Given the description of an element on the screen output the (x, y) to click on. 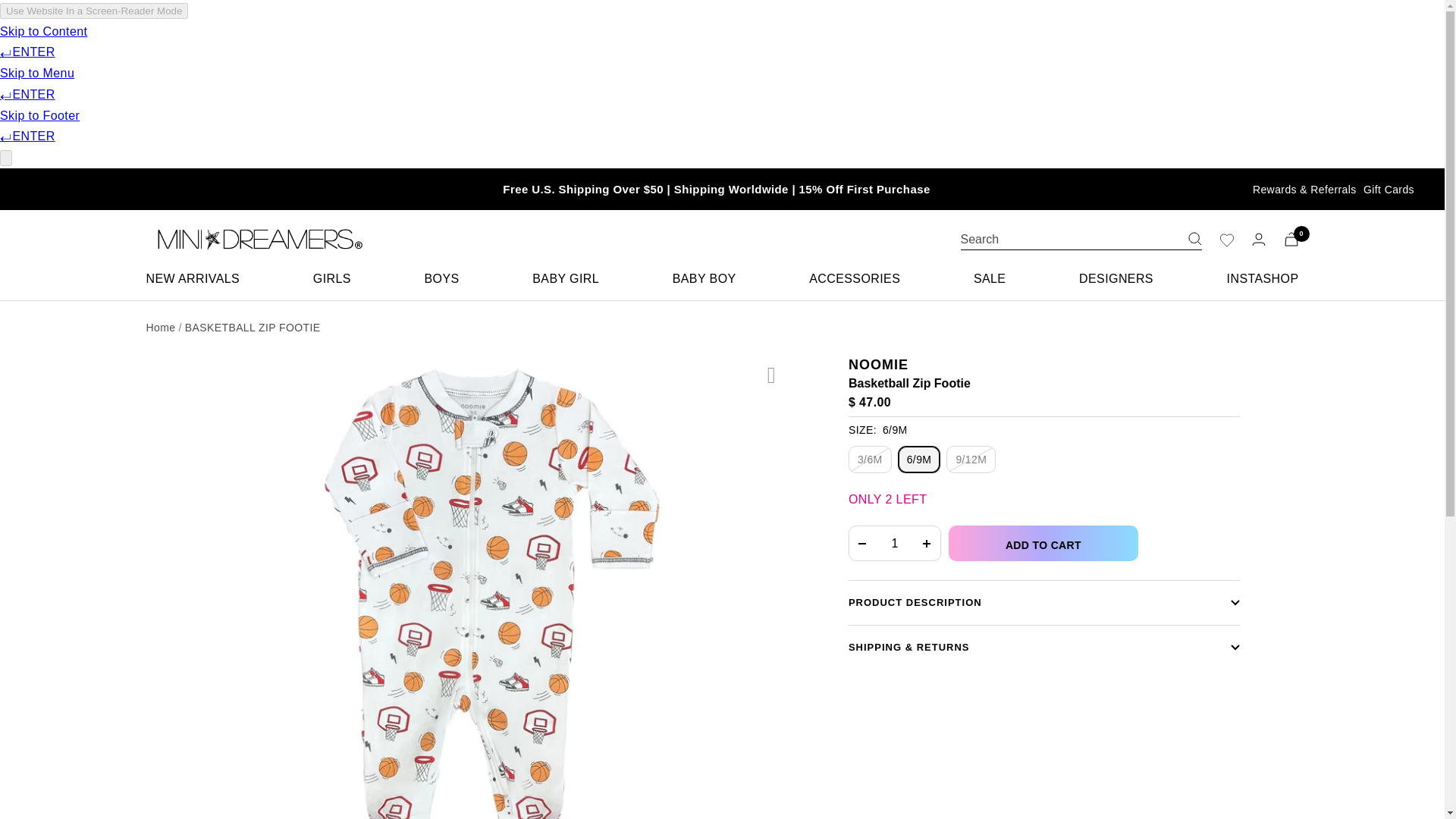
0 (1290, 238)
INSTASHOP (1262, 278)
Mini Dreamers (255, 239)
Gift Cards (1387, 189)
SALE (990, 278)
1 (895, 542)
NEW ARRIVALS (192, 278)
NOOMIE (878, 364)
Increase quantity (927, 542)
Decrease quantity (862, 542)
BABY GIRL (565, 278)
BABY BOY (704, 278)
Home (159, 327)
